Given the description of an element on the screen output the (x, y) to click on. 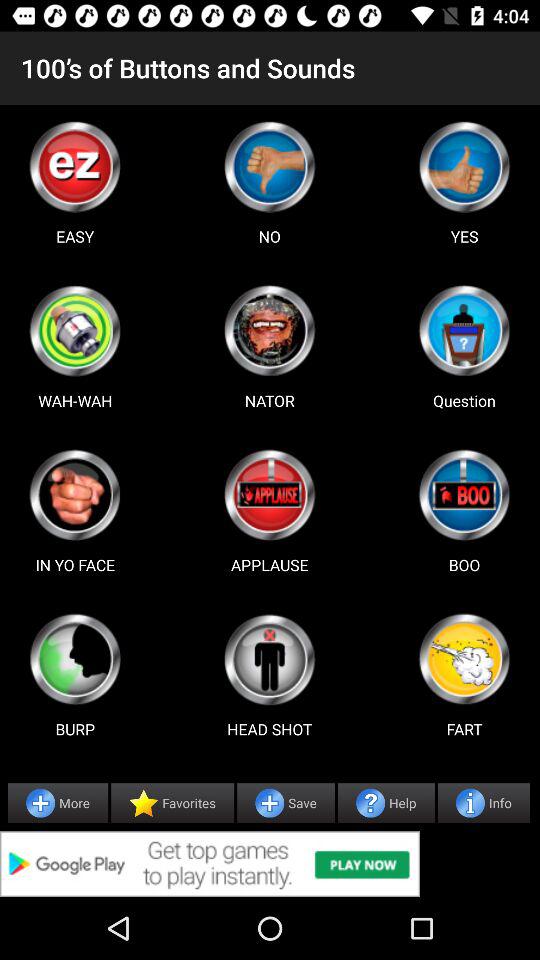
listen nator (269, 330)
